Given the description of an element on the screen output the (x, y) to click on. 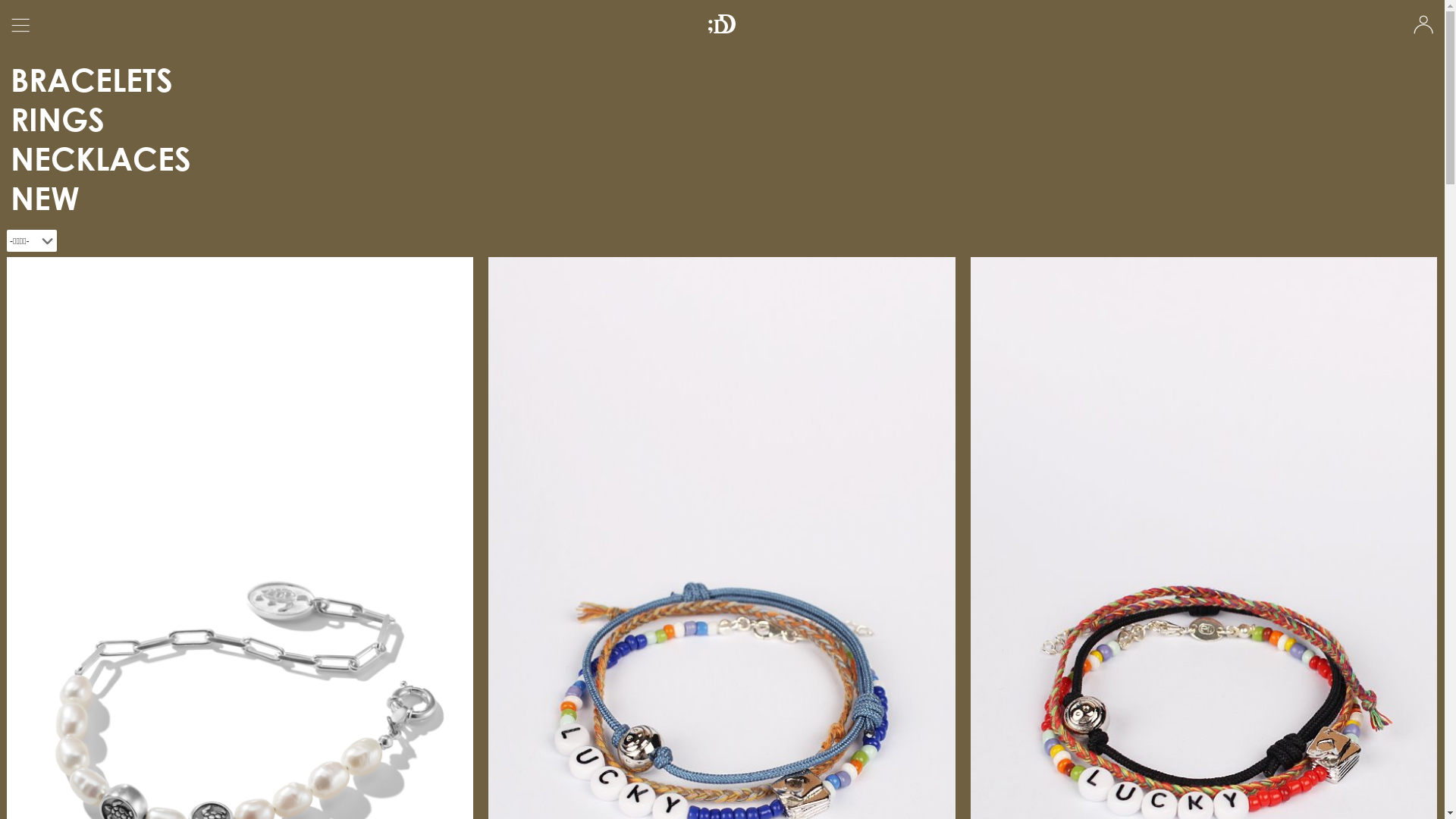
NECKLACES Element type: text (100, 157)
NEW Element type: text (44, 197)
BRACELETS Element type: text (91, 78)
RINGS Element type: text (57, 118)
